Given the description of an element on the screen output the (x, y) to click on. 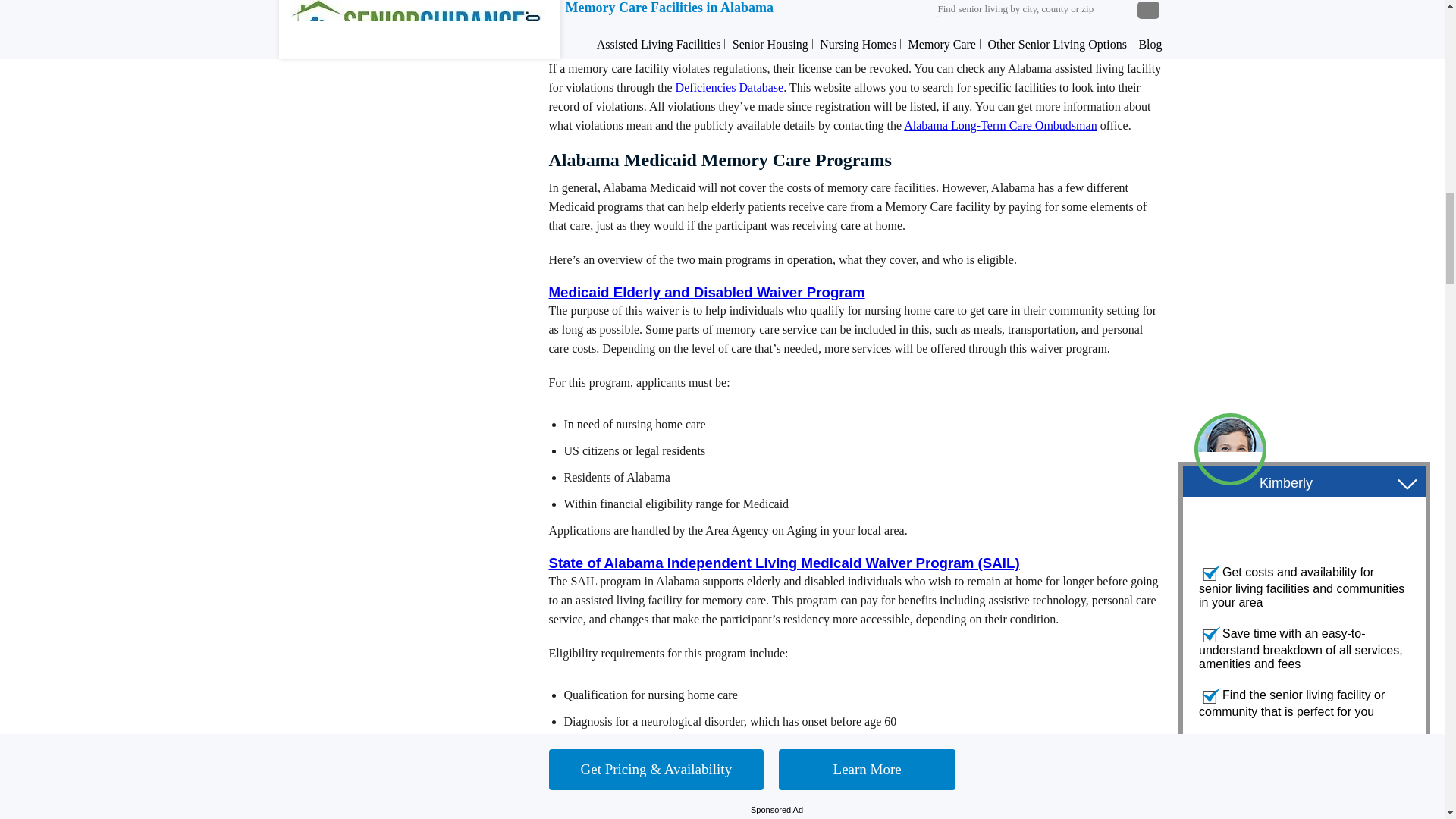
Alabama Long-Term Care Ombudsman (1000, 124)
Medicaid Elderly and Disabled Waiver Program (706, 292)
Deficiencies Database (729, 87)
